Given the description of an element on the screen output the (x, y) to click on. 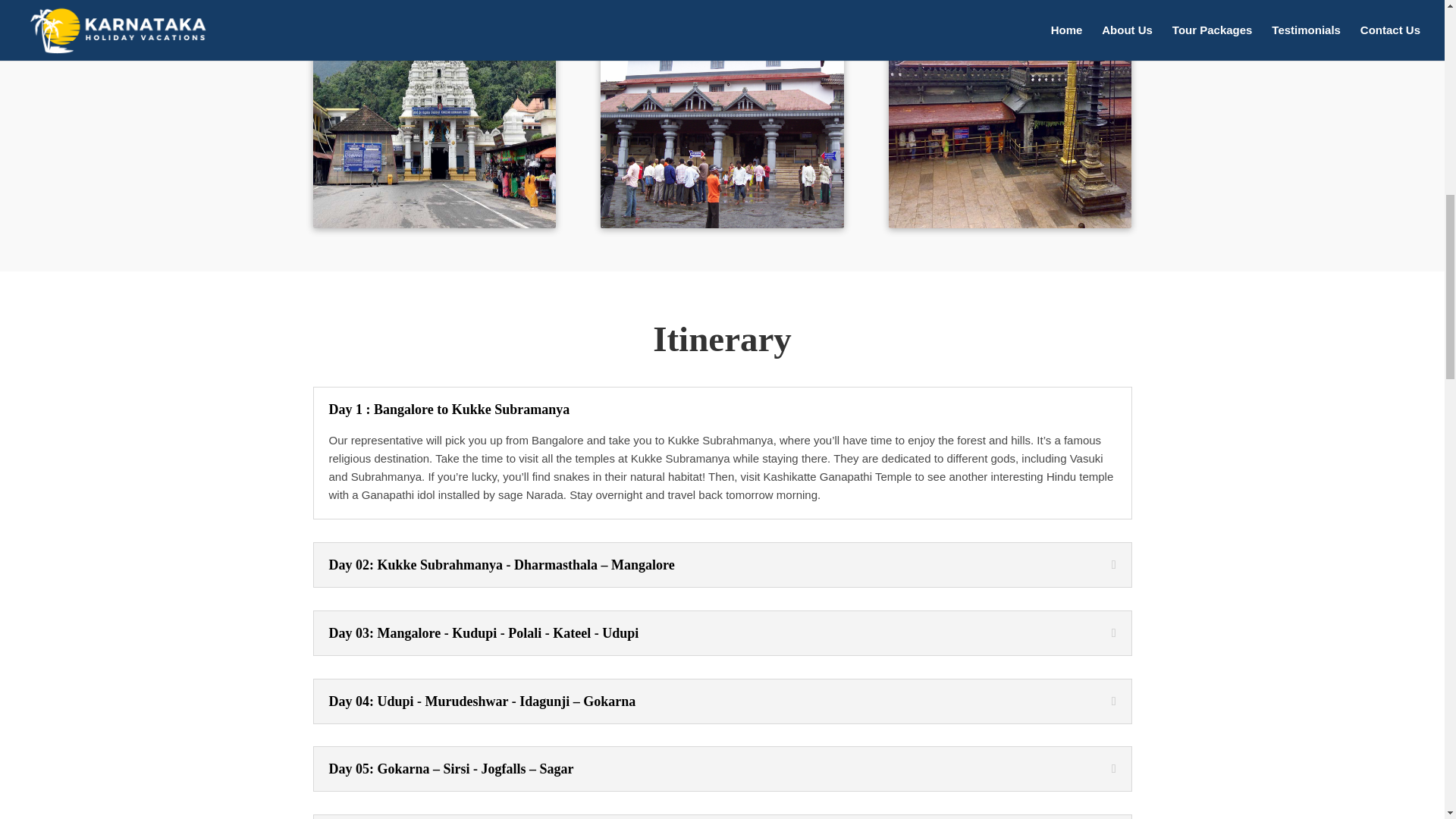
1 (433, 113)
3 (1009, 113)
2 (721, 113)
